Given the description of an element on the screen output the (x, y) to click on. 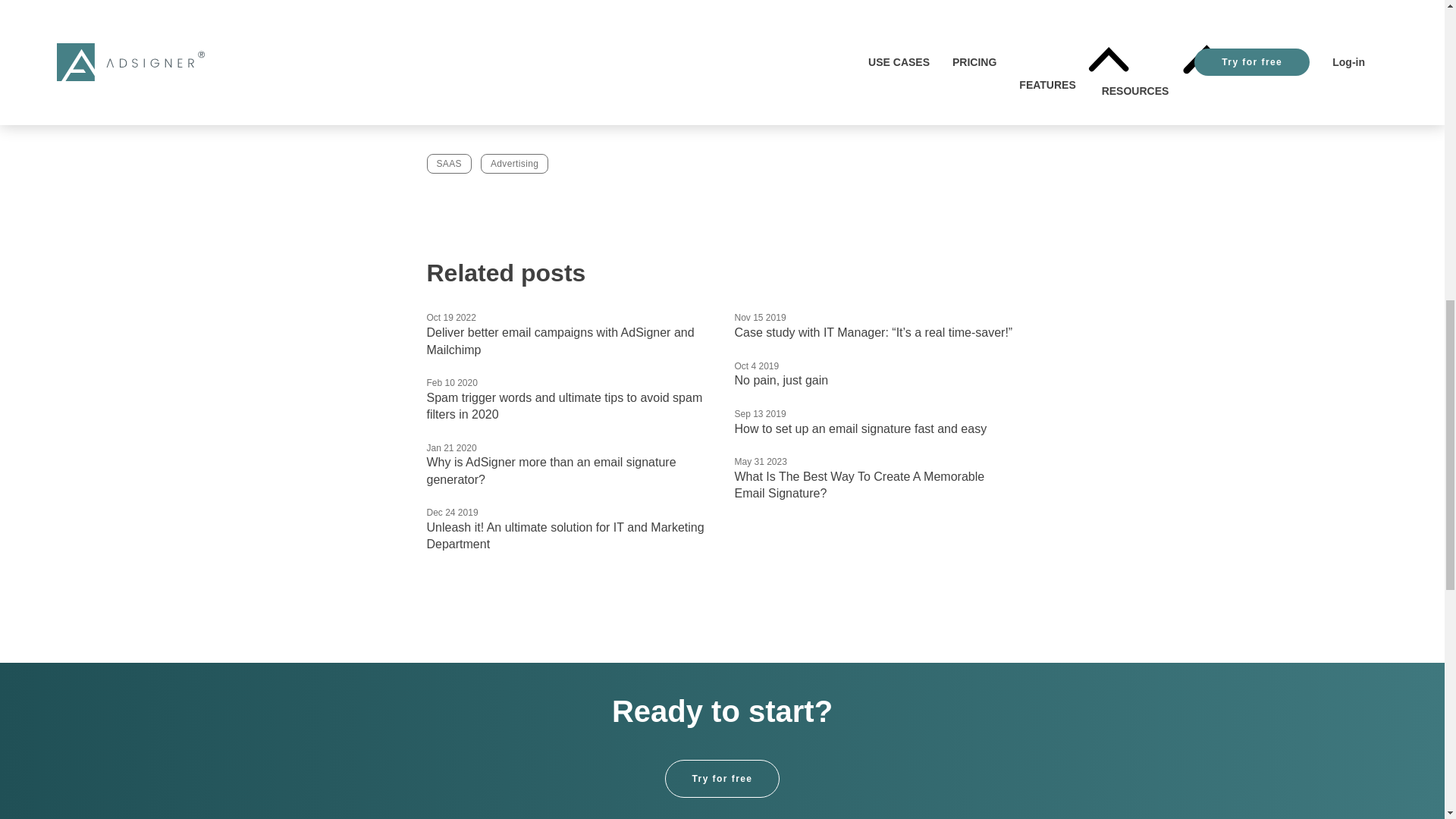
SAAS (448, 163)
Advertising (514, 163)
SAAS (448, 163)
Why is AdSigner more than an email signature generator? (550, 470)
AdSigner (477, 91)
How to set up an email signature fast and easy (860, 428)
Advertising (514, 163)
No pain, just gain (780, 379)
Deliver better email campaigns with AdSigner and Mailchimp (560, 340)
AdSigner (451, 45)
What Is The Best Way To Create A Memorable Email Signature? (858, 484)
Try for free (720, 778)
